Given the description of an element on the screen output the (x, y) to click on. 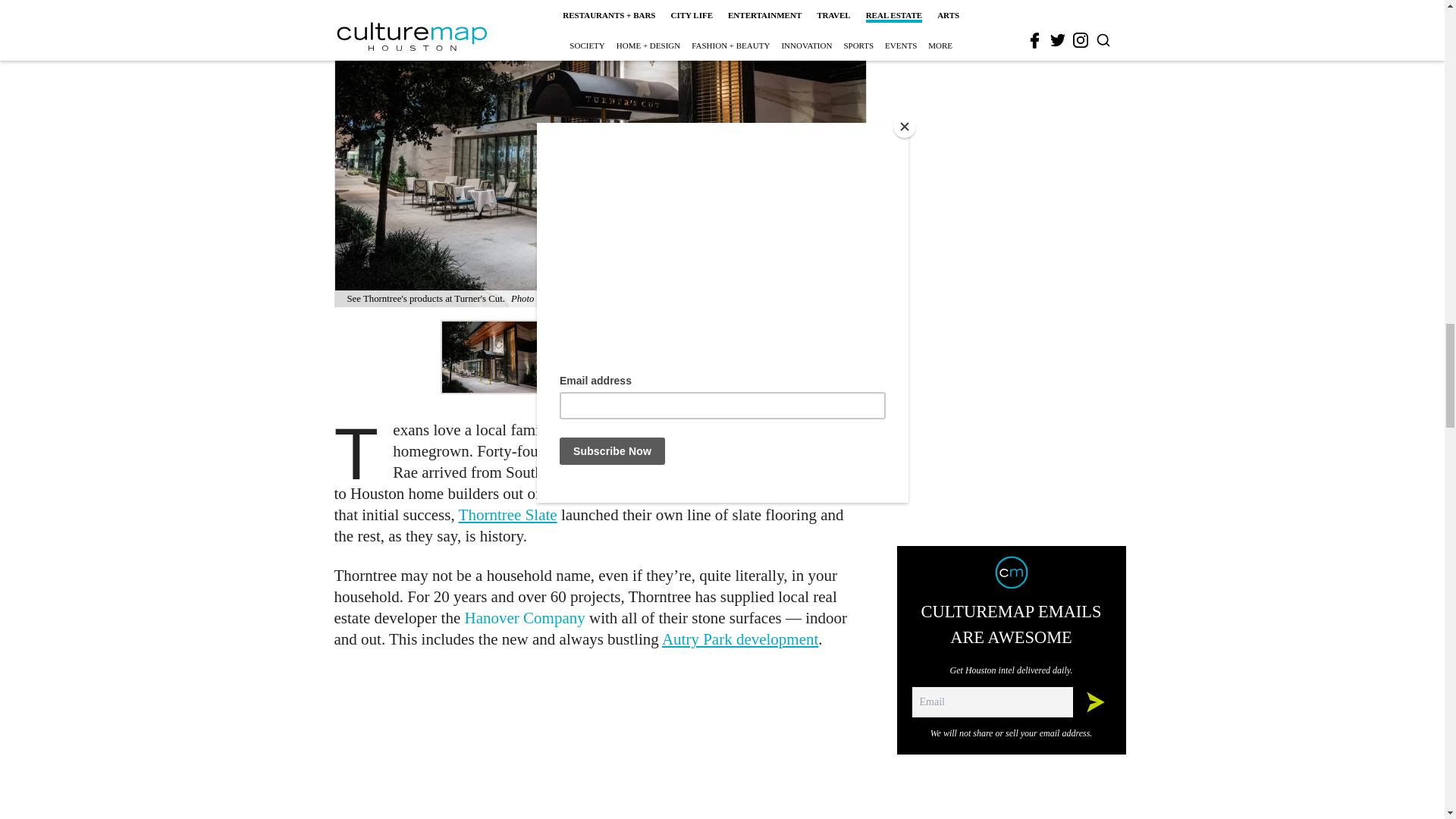
3rd party ad content (600, 743)
